Given the description of an element on the screen output the (x, y) to click on. 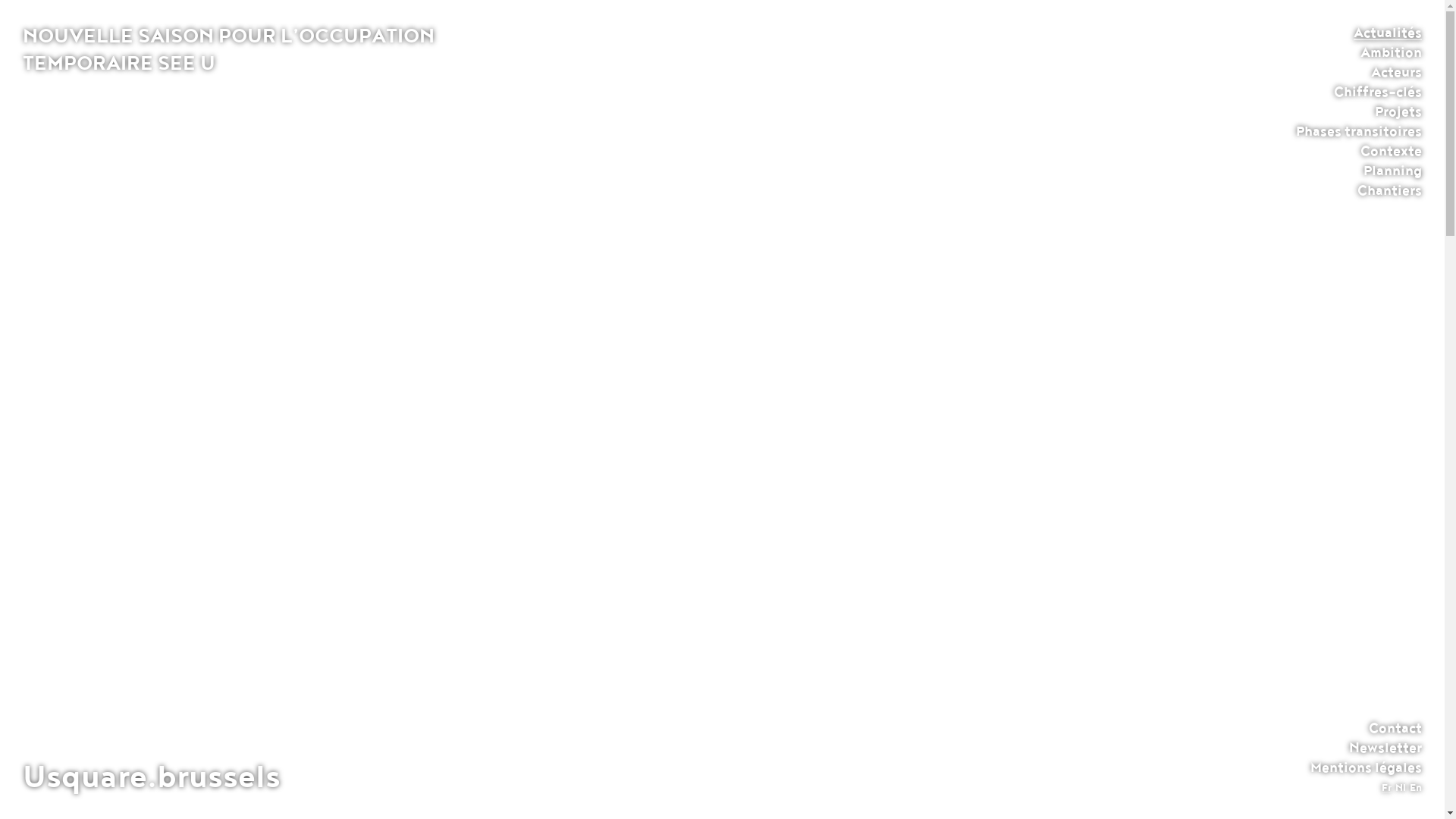
Contact Element type: text (1394, 727)
Acteurs Element type: text (1396, 71)
Projets Element type: text (1397, 111)
Newsletter Element type: text (1385, 747)
En Element type: text (1415, 787)
Nl Element type: text (1400, 787)
Contexte Element type: text (1390, 150)
Ambition Element type: text (1390, 52)
Phases transitoires Element type: text (1358, 131)
Usquare.brussels Element type: text (151, 777)
Fr Element type: text (1386, 787)
Chantiers Element type: text (1389, 190)
Planning Element type: text (1392, 170)
